Given the description of an element on the screen output the (x, y) to click on. 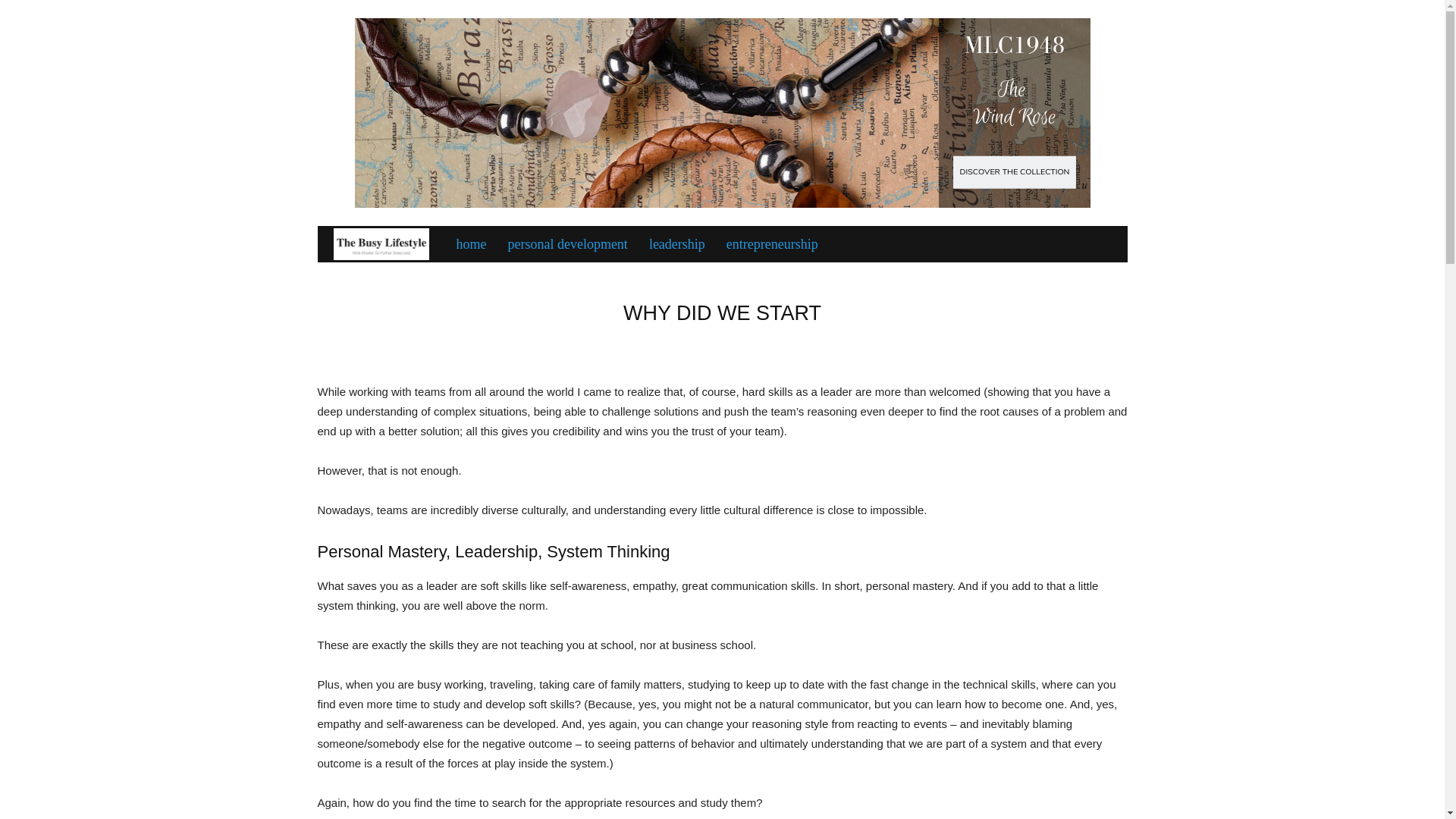
home (470, 244)
entrepreneurship (772, 244)
personal development (566, 244)
leadership (677, 244)
The Busy Lifestyle (381, 244)
